Given the description of an element on the screen output the (x, y) to click on. 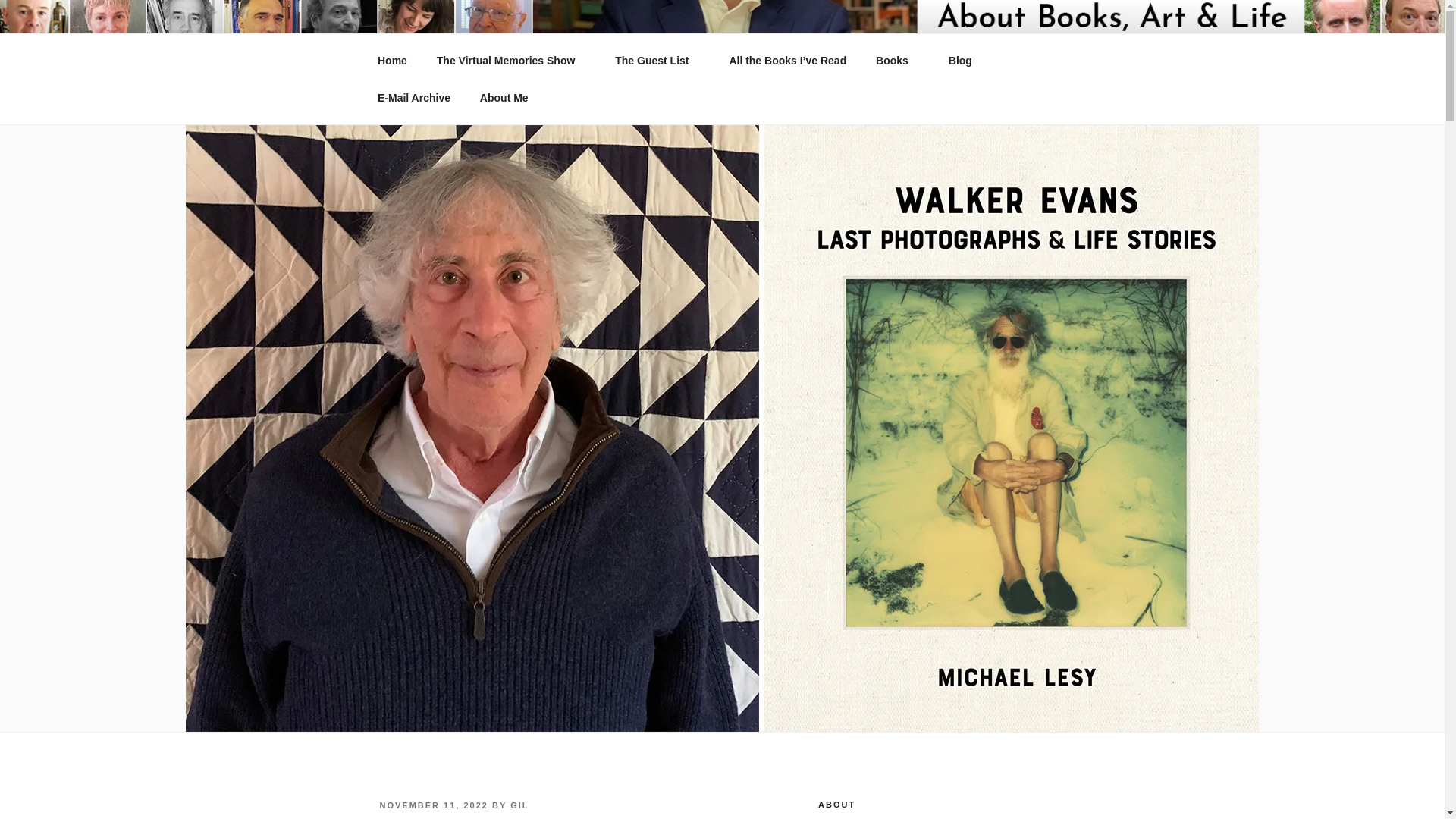
Home (392, 60)
NOVEMBER 11, 2022 (432, 804)
The Virtual Memories Show (510, 60)
Books (898, 60)
The Guest List (657, 60)
Blog (959, 60)
E-Mail Archive (413, 97)
THE VIRTUAL MEMORIES SHOW (619, 52)
GIL (519, 804)
About Me (503, 97)
